Given the description of an element on the screen output the (x, y) to click on. 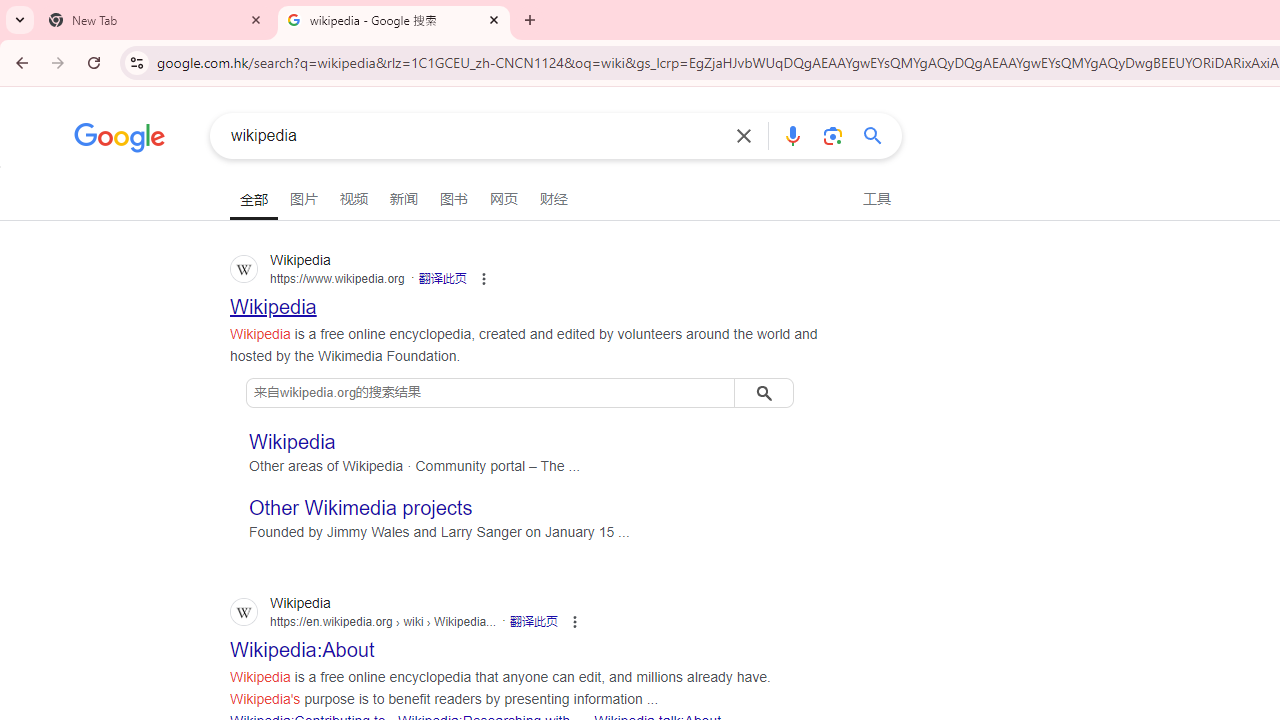
Untitled (632, 20)
New Tab (156, 20)
